Given the description of an element on the screen output the (x, y) to click on. 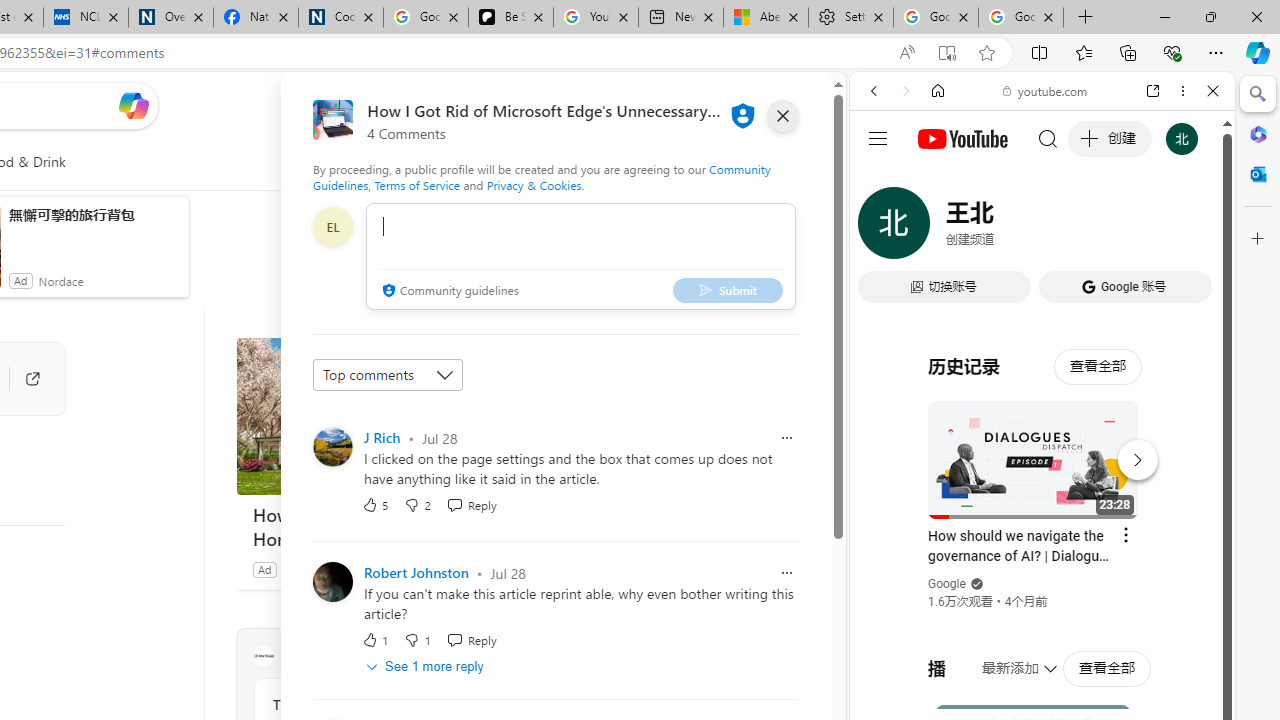
WEB   (882, 228)
Notifications (746, 105)
Search Filter, Search Tools (1093, 228)
Go to publisher's site (22, 378)
Close Outlook pane (1258, 174)
Privacy & Cookies (534, 184)
Search Filter, WEB (882, 228)
Enter Immersive Reader (F9) (946, 53)
Dislike (417, 639)
Preferences (1189, 228)
close (782, 115)
